Given the description of an element on the screen output the (x, y) to click on. 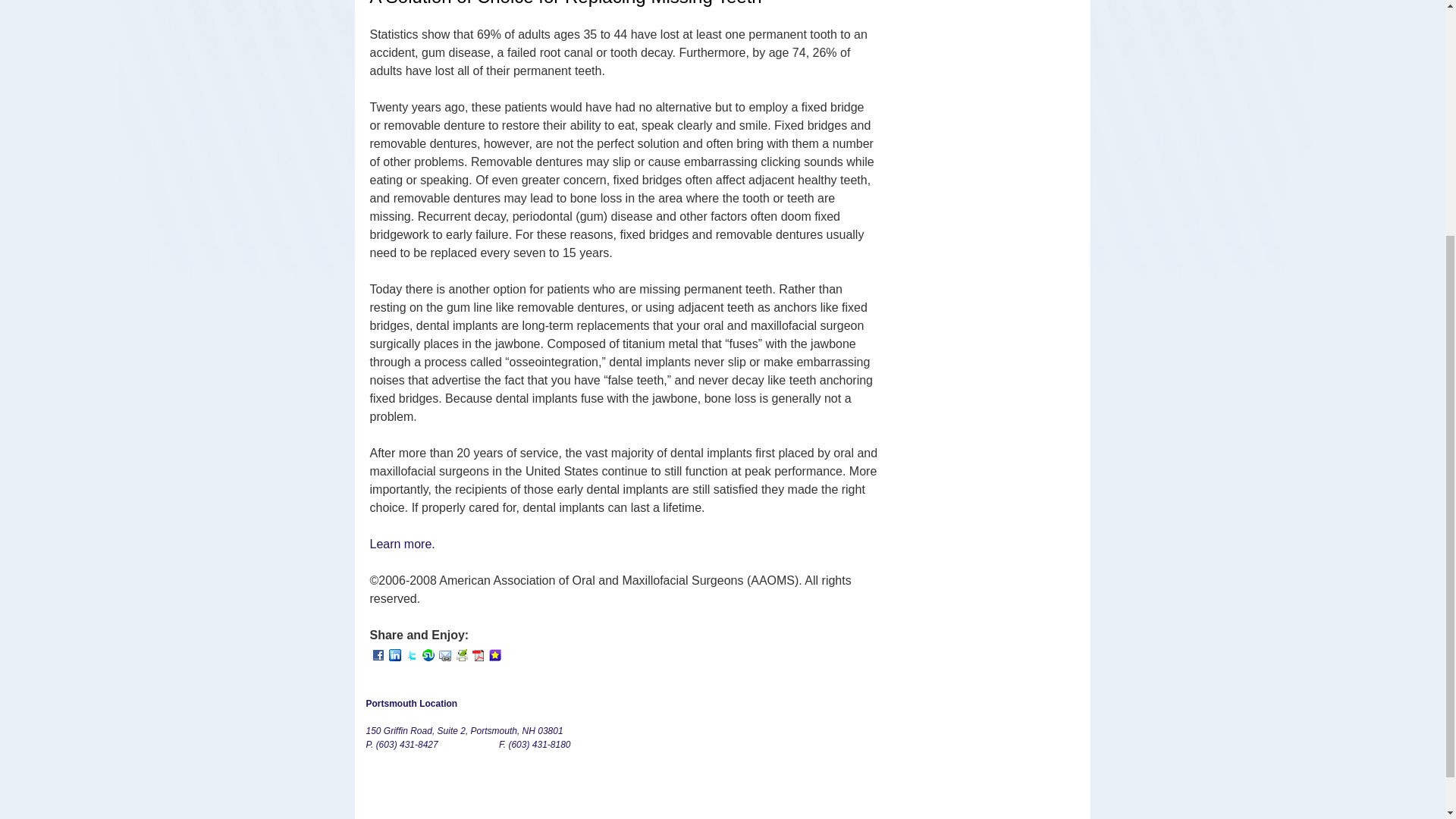
PDF (477, 654)
StumbleUpon (427, 654)
email (443, 654)
LinkedIn (394, 654)
Add to favorites (494, 654)
Facebook (377, 654)
Learn more. (402, 543)
Twitter (411, 654)
Add to favorites (494, 654)
Print (460, 654)
